Given the description of an element on the screen output the (x, y) to click on. 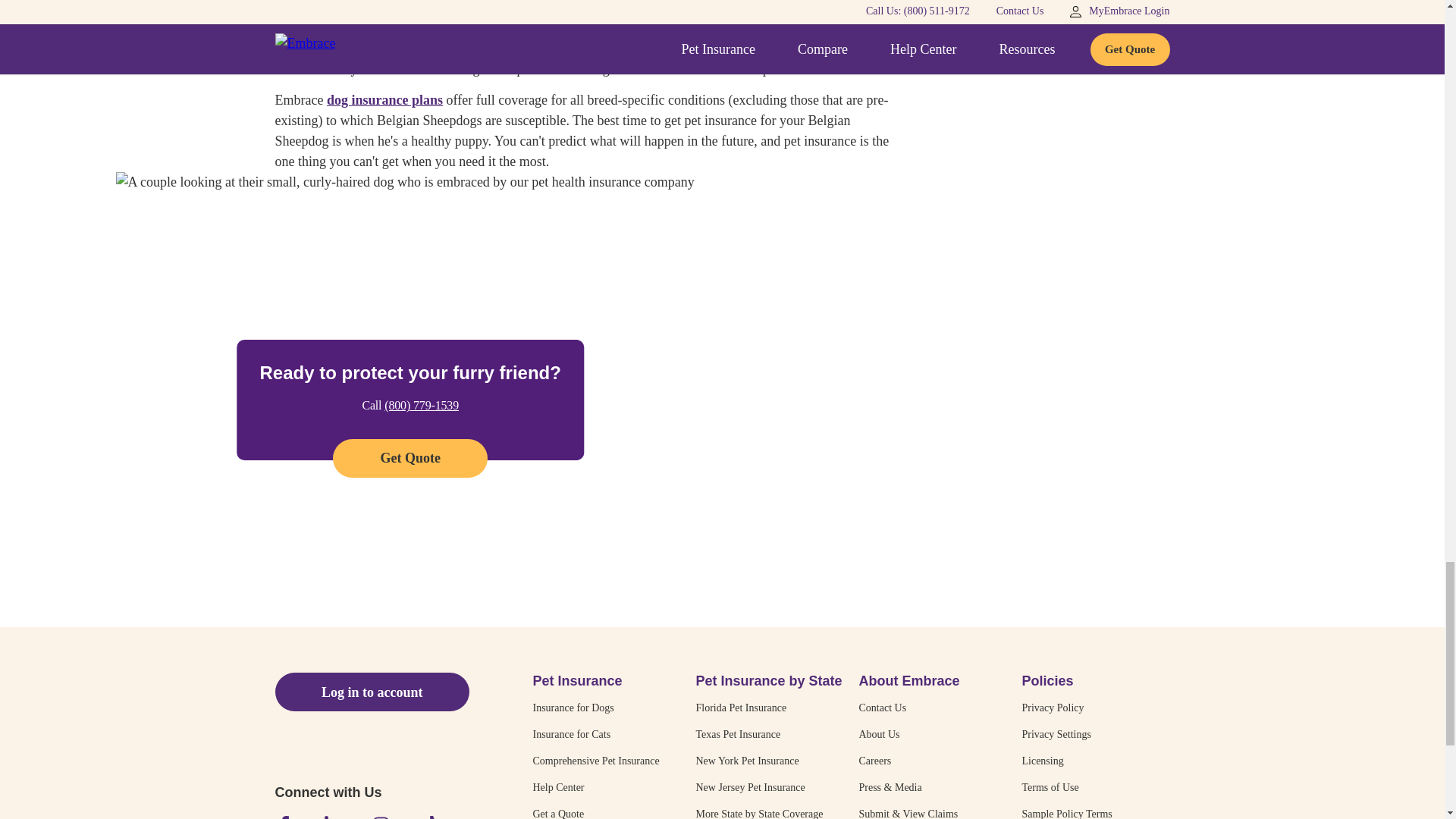
Embrace Pet Insurance on LinkedIn (331, 817)
Embrace Pet Insurance on Facebook (283, 817)
Embrace Pet Insurance on Instagram (380, 817)
Embrace Pet Insurance on TikTok (429, 817)
